Given the description of an element on the screen output the (x, y) to click on. 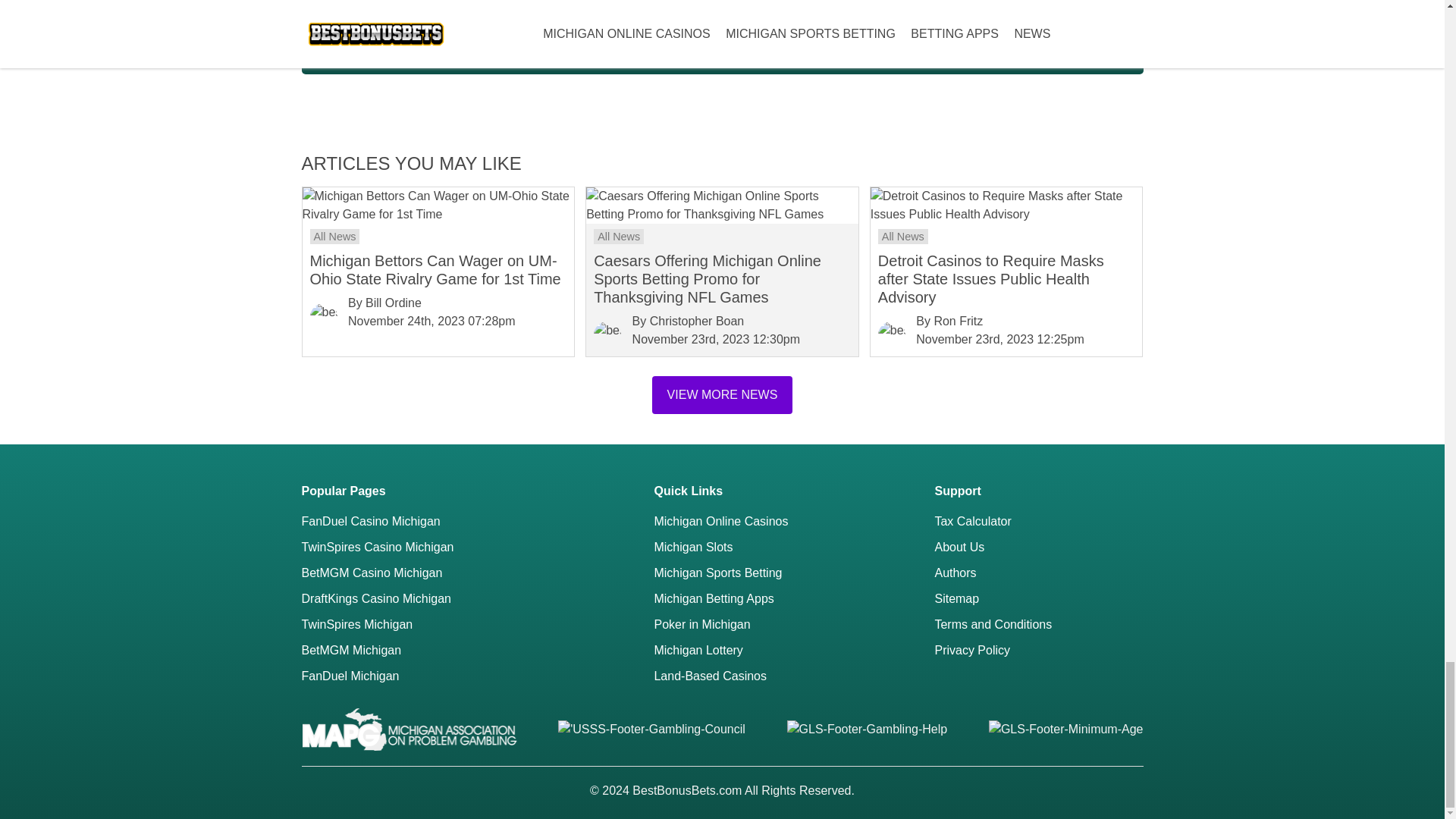
bestbonusbets.com (322, 316)
bestbonusbets.com (891, 334)
GLS-Footer-Gambling-Council (408, 729)
bestbonusbets.com (607, 334)
USSS-Footer-Gambling-Council (651, 729)
GLS-Footer-Gambling-Help (867, 729)
